Given the description of an element on the screen output the (x, y) to click on. 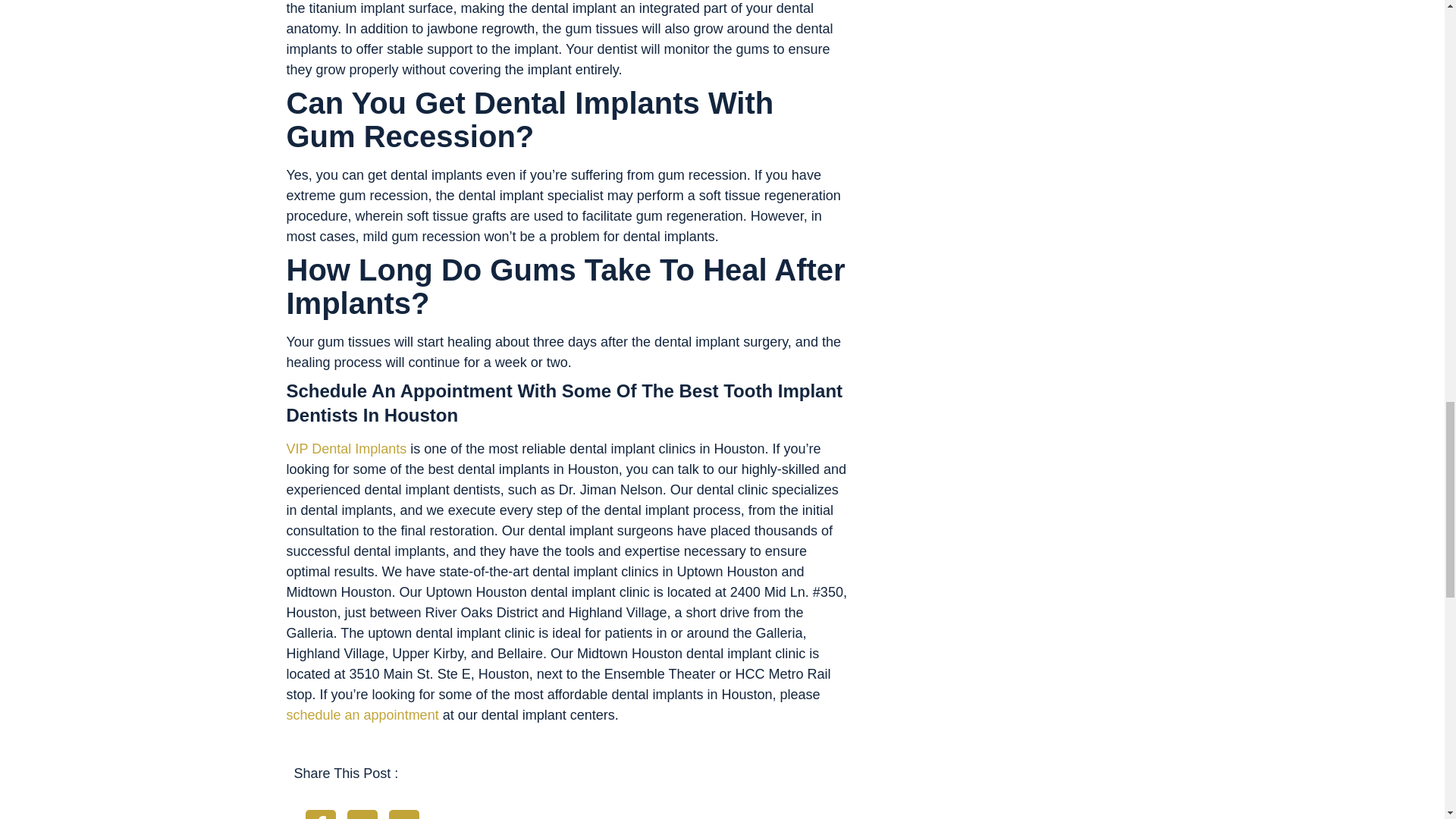
VIP Dental Implants (346, 448)
schedule an appointment (362, 714)
